Given the description of an element on the screen output the (x, y) to click on. 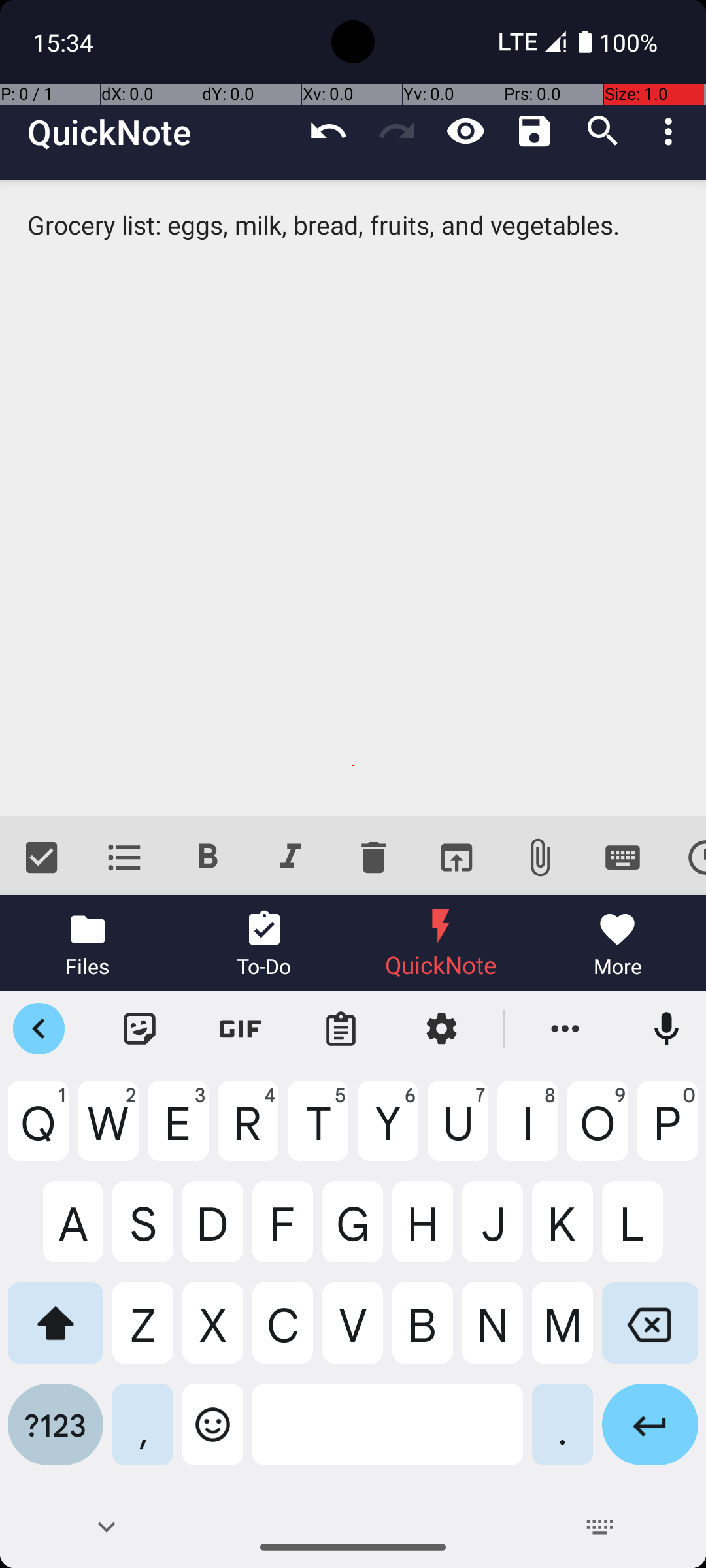
Grocery list: eggs, milk, bread, fruits, and vegetables.
 Element type: android.widget.EditText (353, 497)
